Given the description of an element on the screen output the (x, y) to click on. 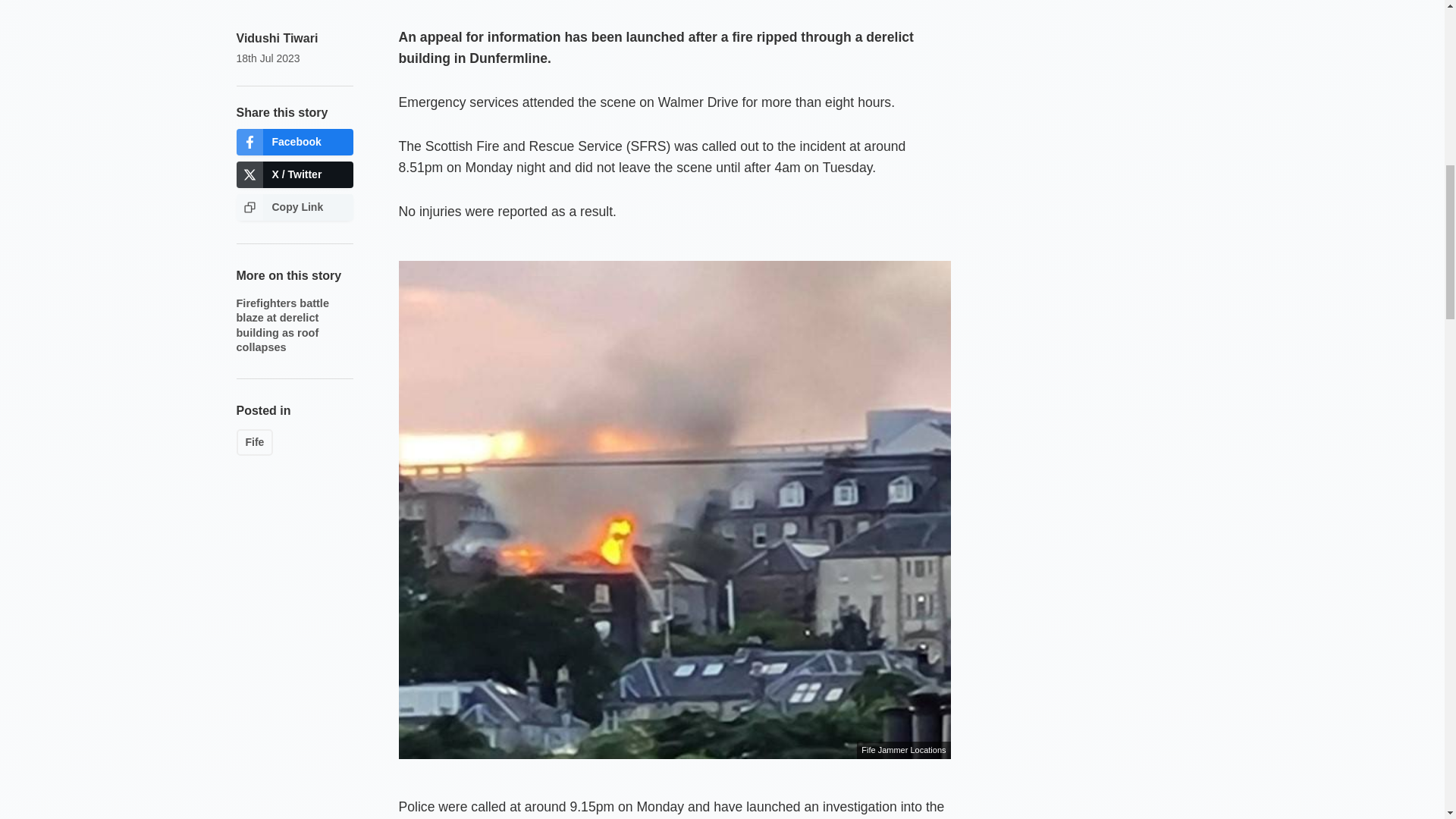
Vidushi Tiwari (276, 38)
